Given the description of an element on the screen output the (x, y) to click on. 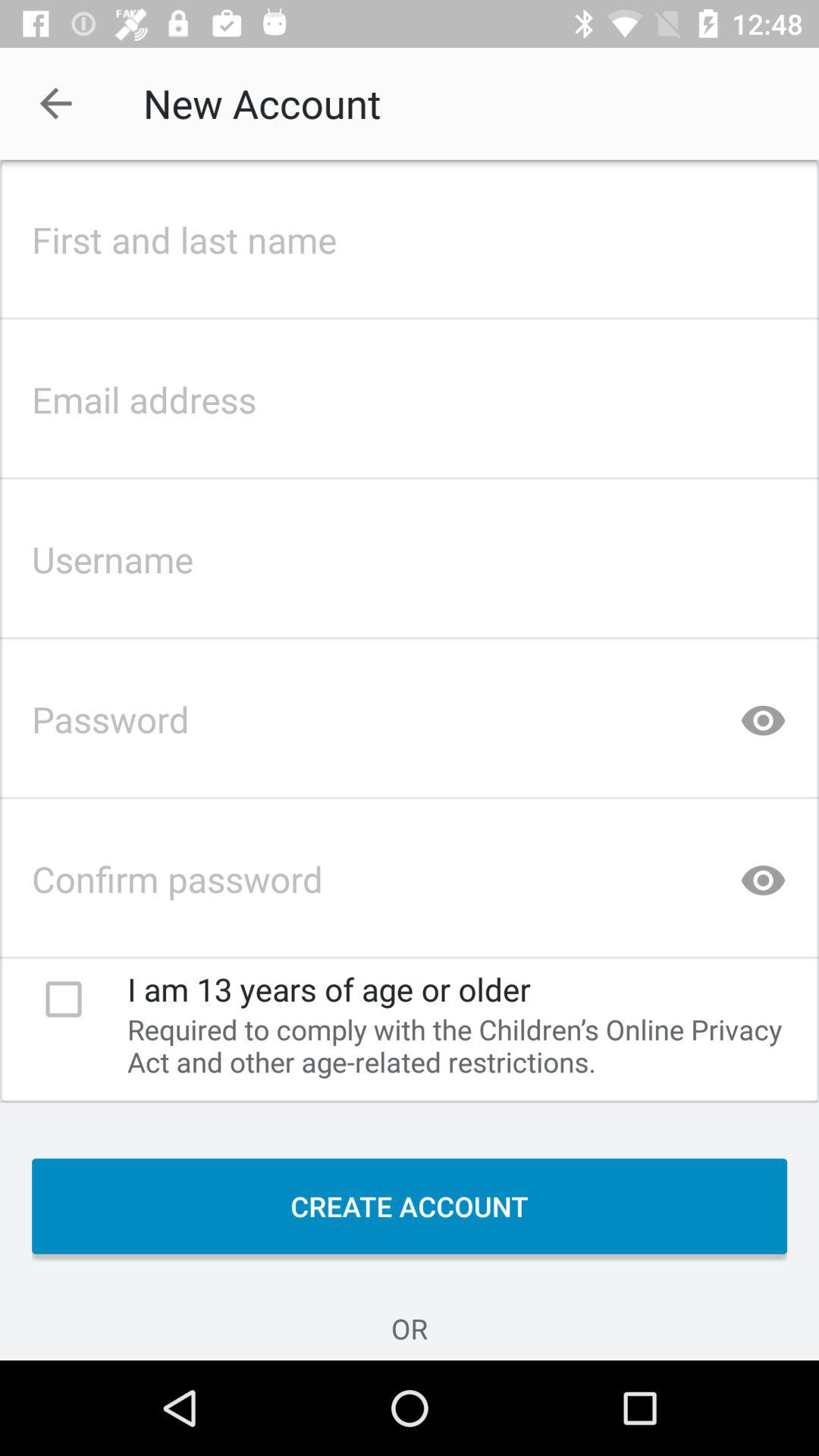
enter email address (409, 395)
